Given the description of an element on the screen output the (x, y) to click on. 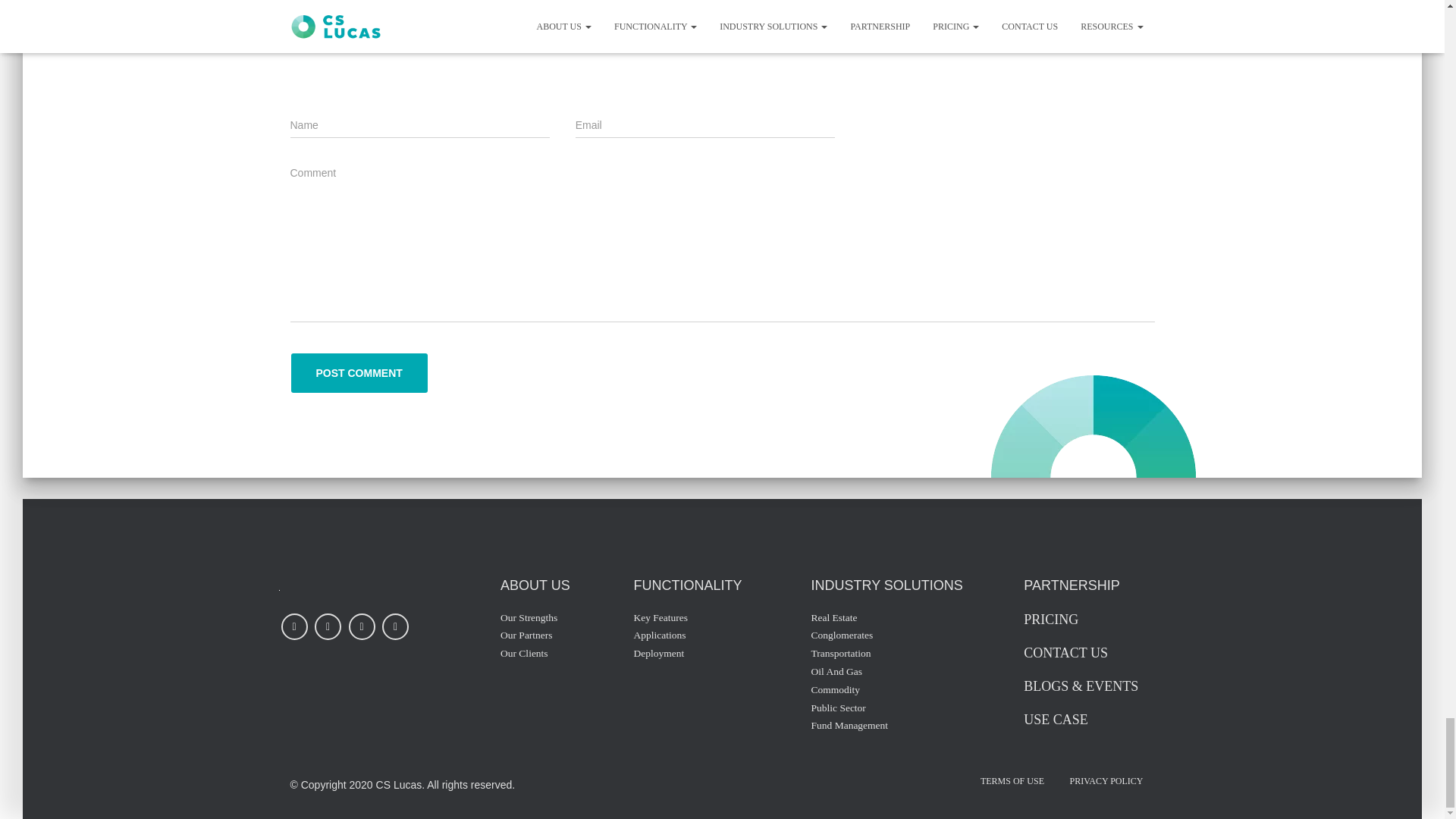
Post Comment (359, 372)
Twitter (701, 13)
LinkedIn (659, 13)
Facebook (785, 13)
Email (743, 13)
